Given the description of an element on the screen output the (x, y) to click on. 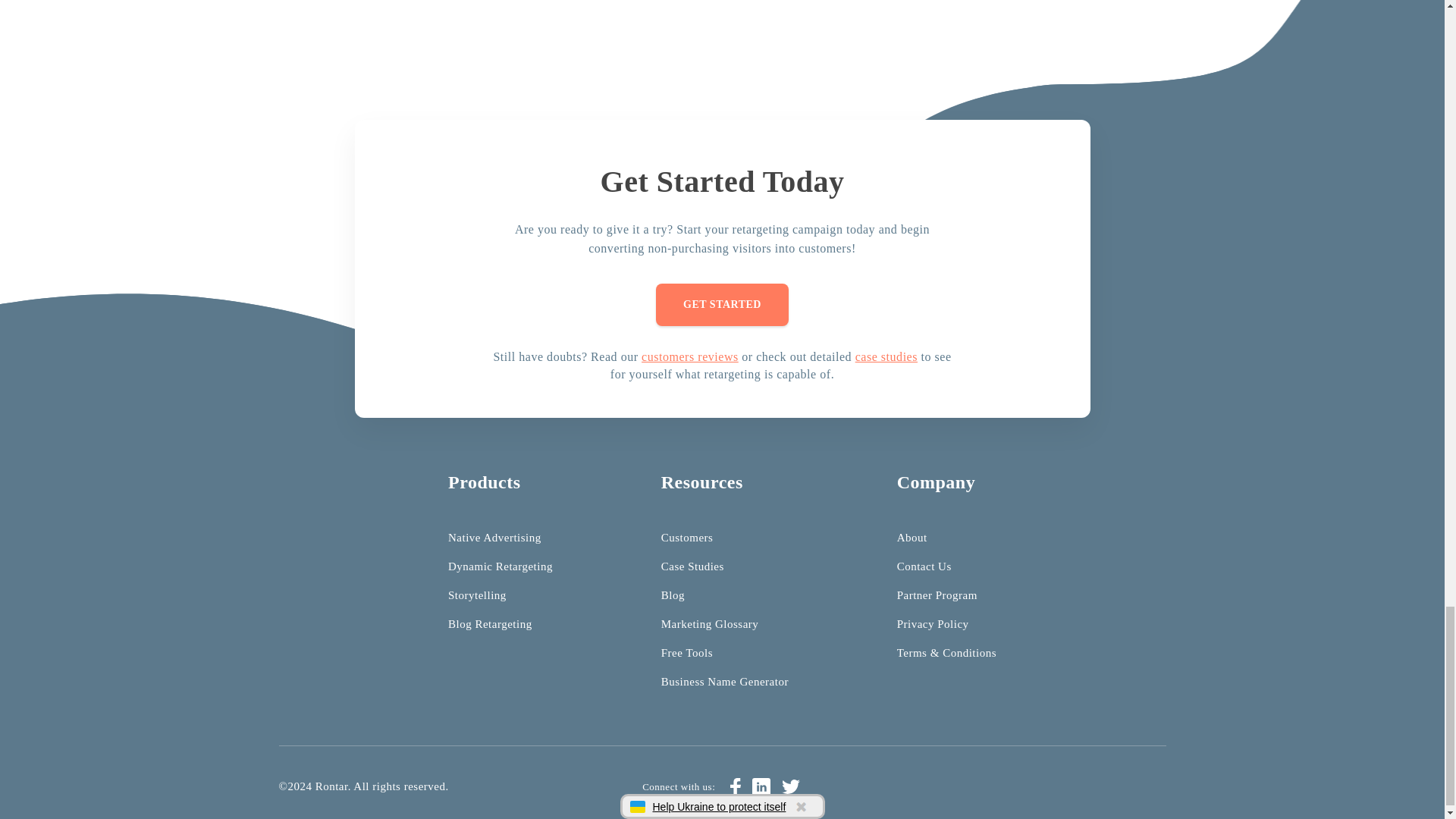
Case Studies (692, 566)
Dynamic Retargeting (500, 566)
Blog (672, 594)
Customers (687, 537)
Native Advertising (494, 537)
case studies (886, 356)
Marketing Glossary (709, 623)
Free Tools (687, 653)
Contact Us (924, 566)
Blog Retargeting (490, 623)
About (911, 537)
Business Name Generator (725, 681)
GET STARTED (722, 304)
customers reviews (690, 356)
Storytelling (477, 594)
